Given the description of an element on the screen output the (x, y) to click on. 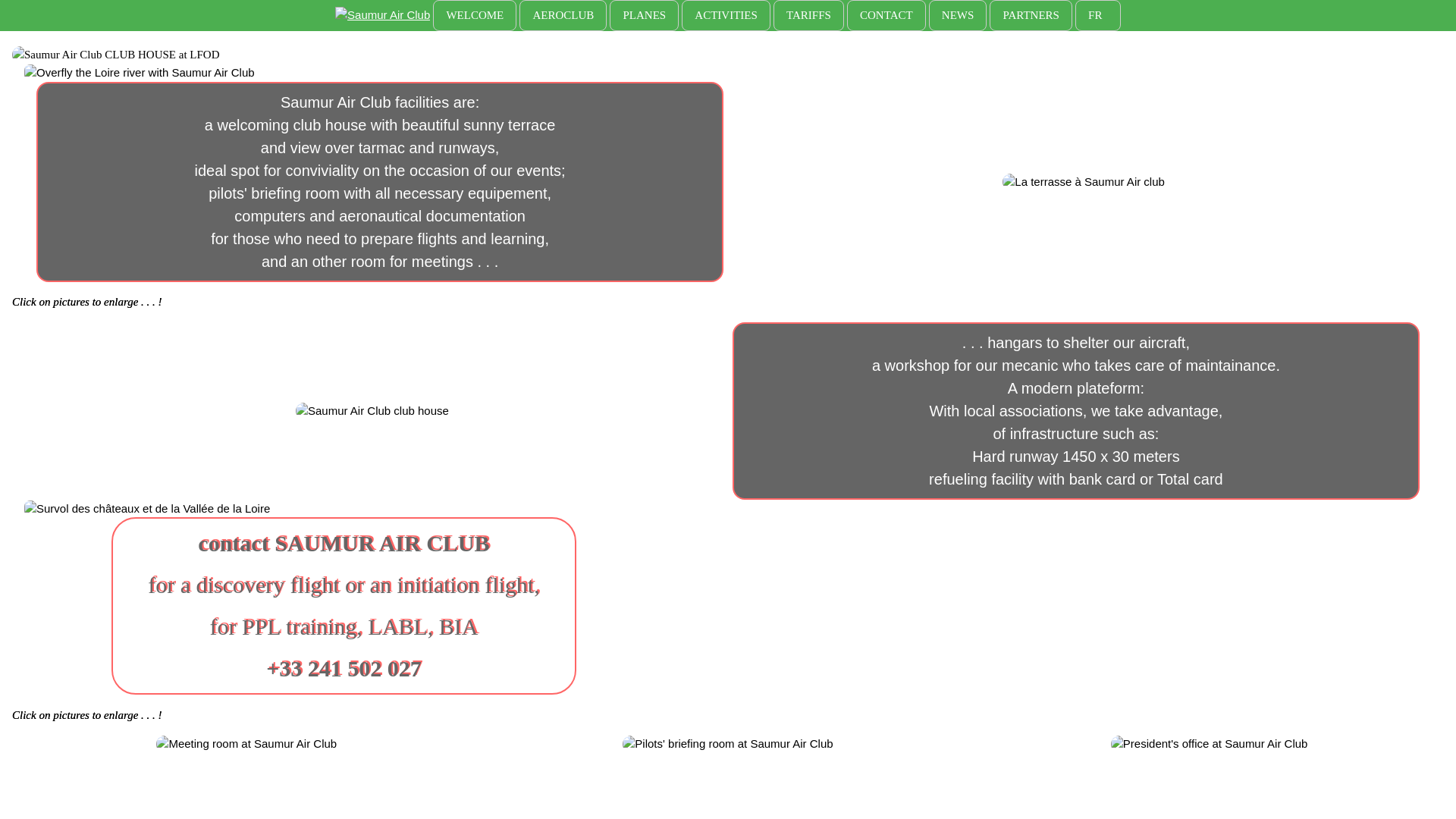
PARTNERS (1030, 15)
PLANES (644, 15)
CONTACT (886, 15)
AEROCLUB (563, 15)
ACTIVITIES (725, 15)
WELCOME (474, 15)
NEWS (957, 15)
TARIFFS (808, 15)
FR   (1098, 15)
